Given the description of an element on the screen output the (x, y) to click on. 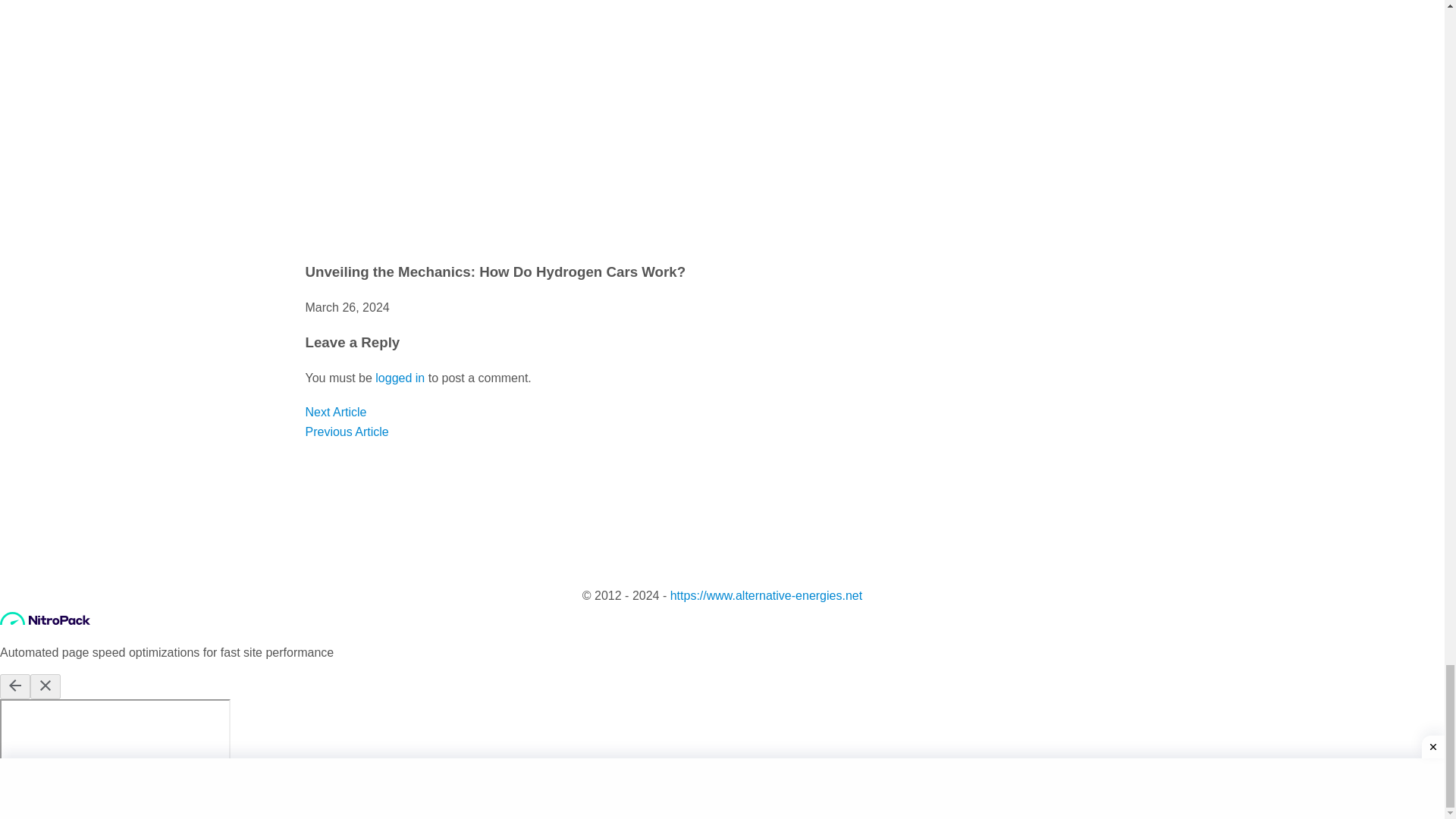
Unveiling the Mechanics: How Do Hydrogen Cars Work? (494, 271)
Previous Article (346, 431)
logged in (400, 377)
Next Article (335, 411)
